Given the description of an element on the screen output the (x, y) to click on. 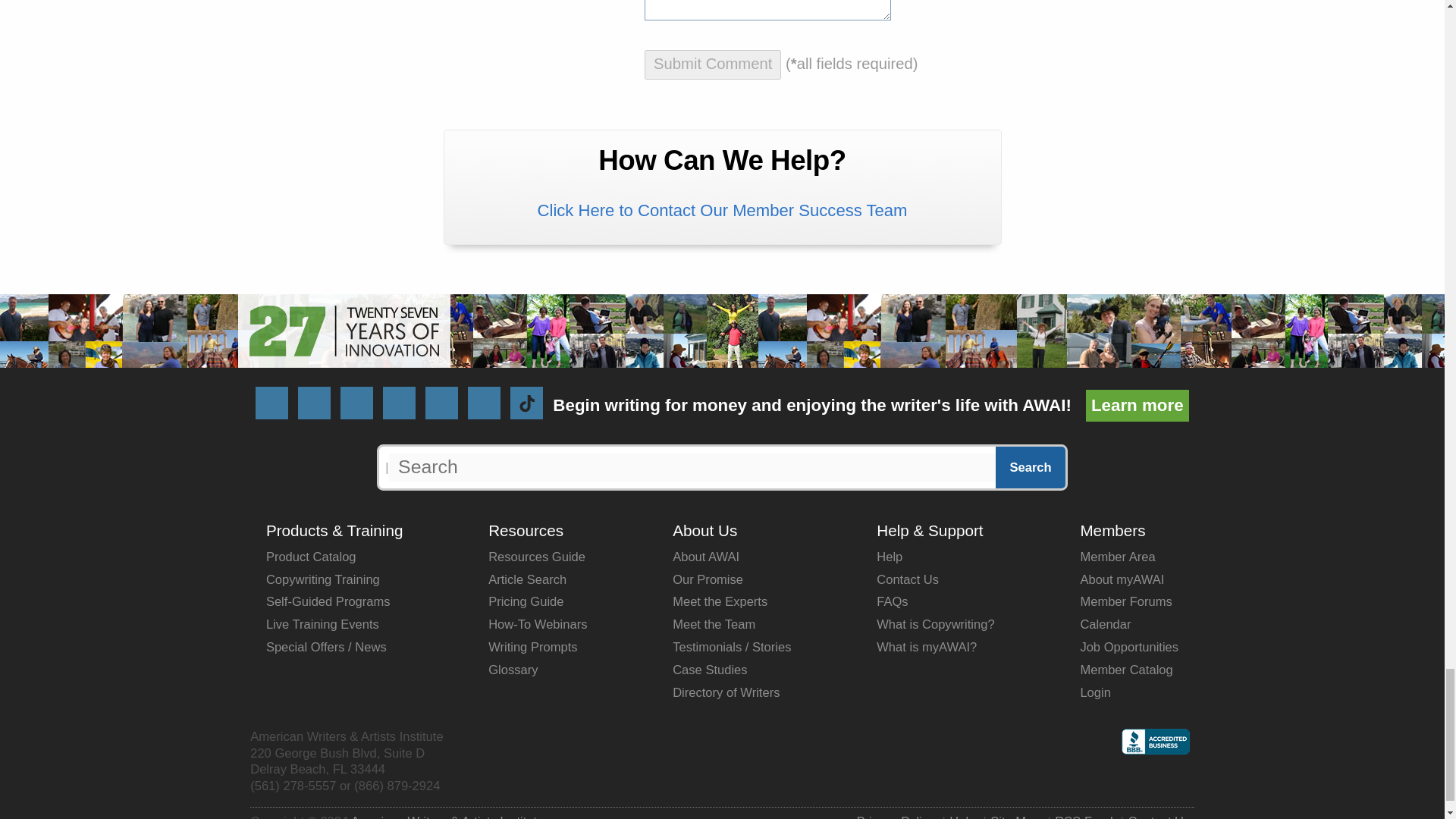
Better Business Bureau Accredited Business (1155, 749)
Better Business Bureau Accredited Business (1155, 741)
